Given the description of an element on the screen output the (x, y) to click on. 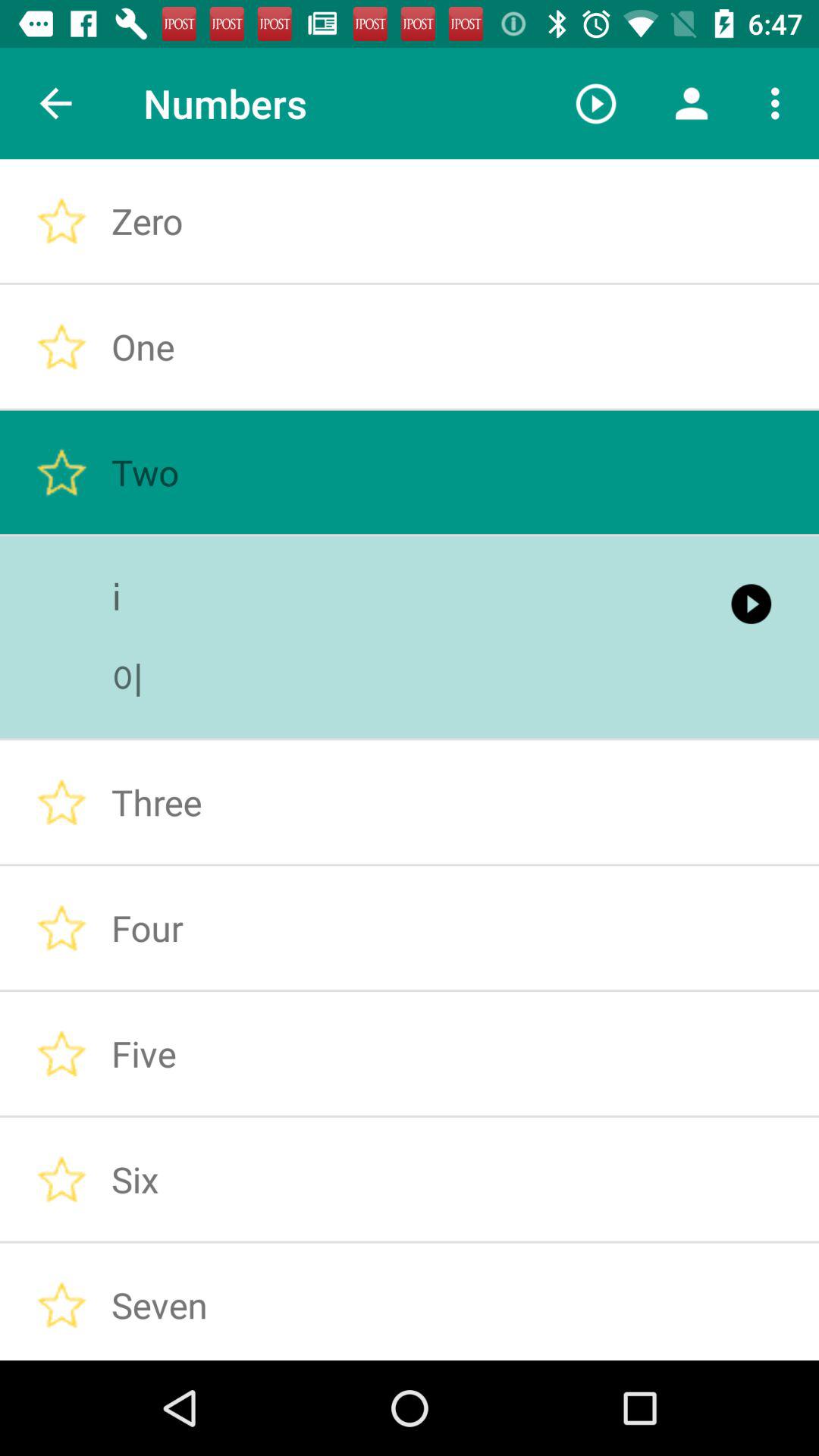
select the play icon (595, 103)
click menu icon (779, 103)
